Given the description of an element on the screen output the (x, y) to click on. 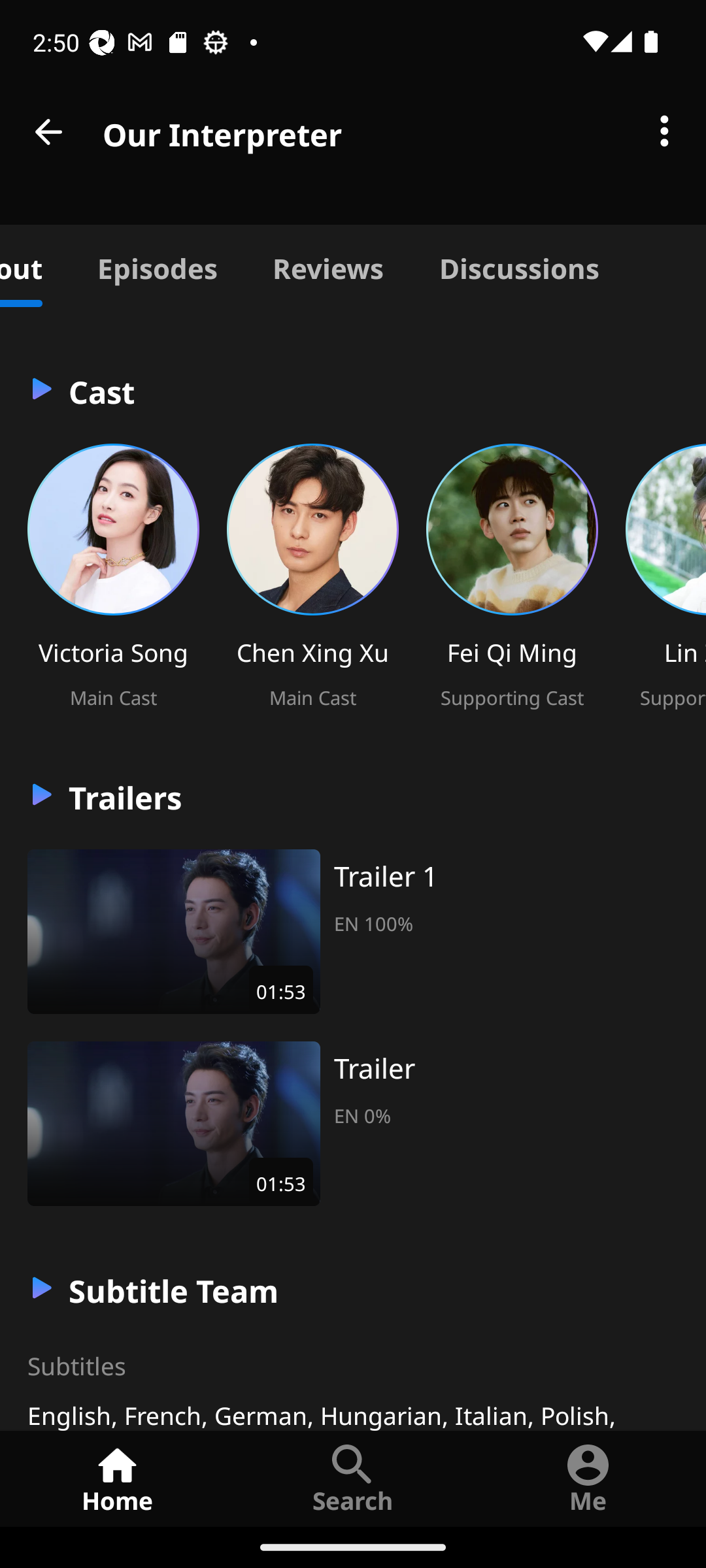
More (664, 131)
Episodes (156, 265)
Reviews (327, 265)
Discussions (518, 265)
Search (352, 1478)
Me (588, 1478)
